Given the description of an element on the screen output the (x, y) to click on. 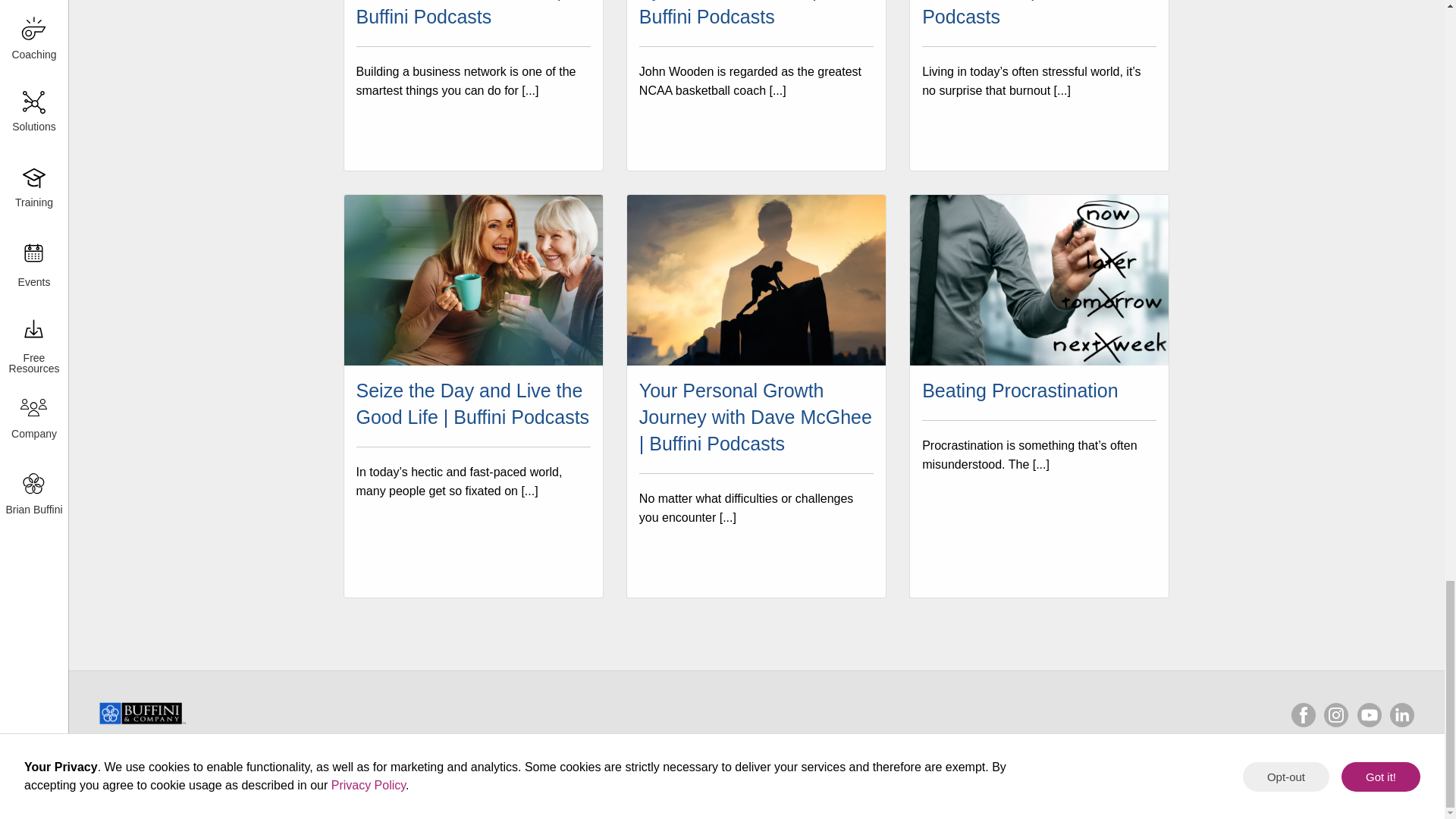
Facebook (1303, 714)
YouTube (1368, 714)
Instagram (1335, 714)
LinkedIn (1401, 714)
